Given the description of an element on the screen output the (x, y) to click on. 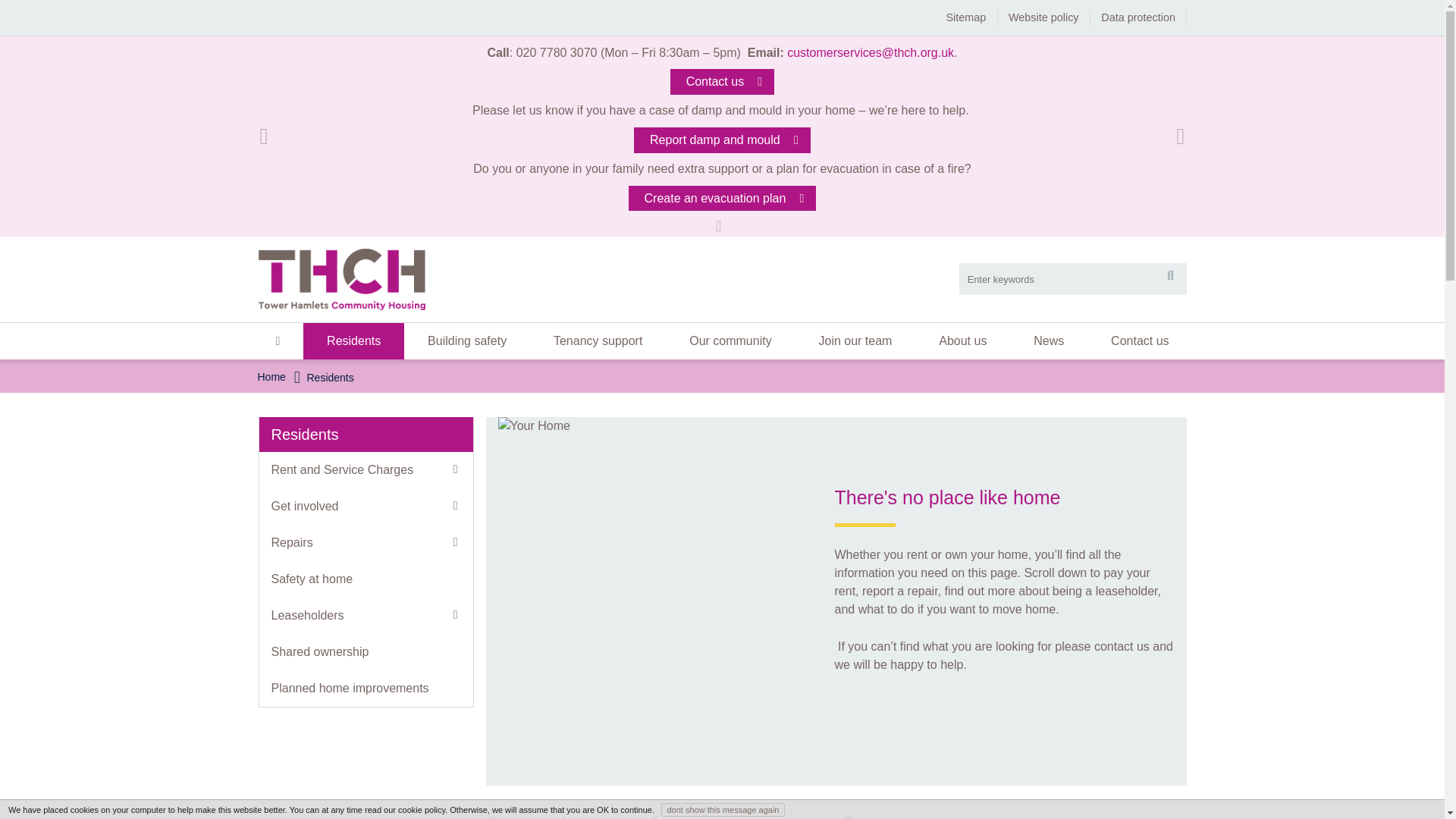
Search (1170, 278)
Report damp and mould (721, 140)
Building safety (466, 340)
Search (1170, 278)
Residents (353, 340)
Contact us (721, 81)
dont show this message again (723, 809)
Create an evacuation plan (722, 198)
search (1072, 278)
Website policy (1043, 17)
Data protection (1137, 17)
Sitemap (964, 17)
